Given the description of an element on the screen output the (x, y) to click on. 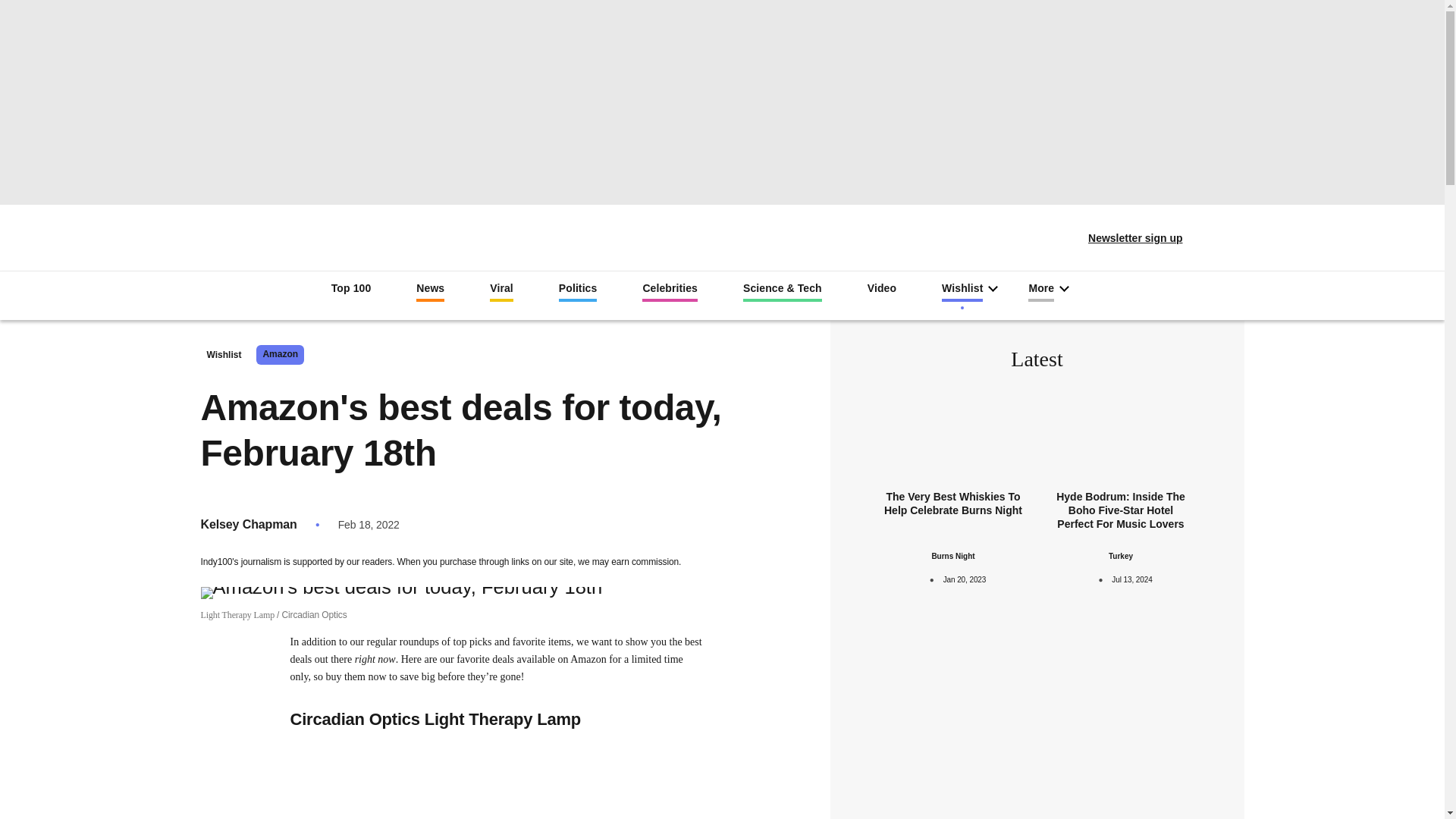
Celebrities (669, 291)
Newsletter sign up (1124, 238)
Top 100 (351, 289)
News (430, 291)
Indy100 logo (722, 232)
Politics (577, 291)
Viral (501, 291)
